Given the description of an element on the screen output the (x, y) to click on. 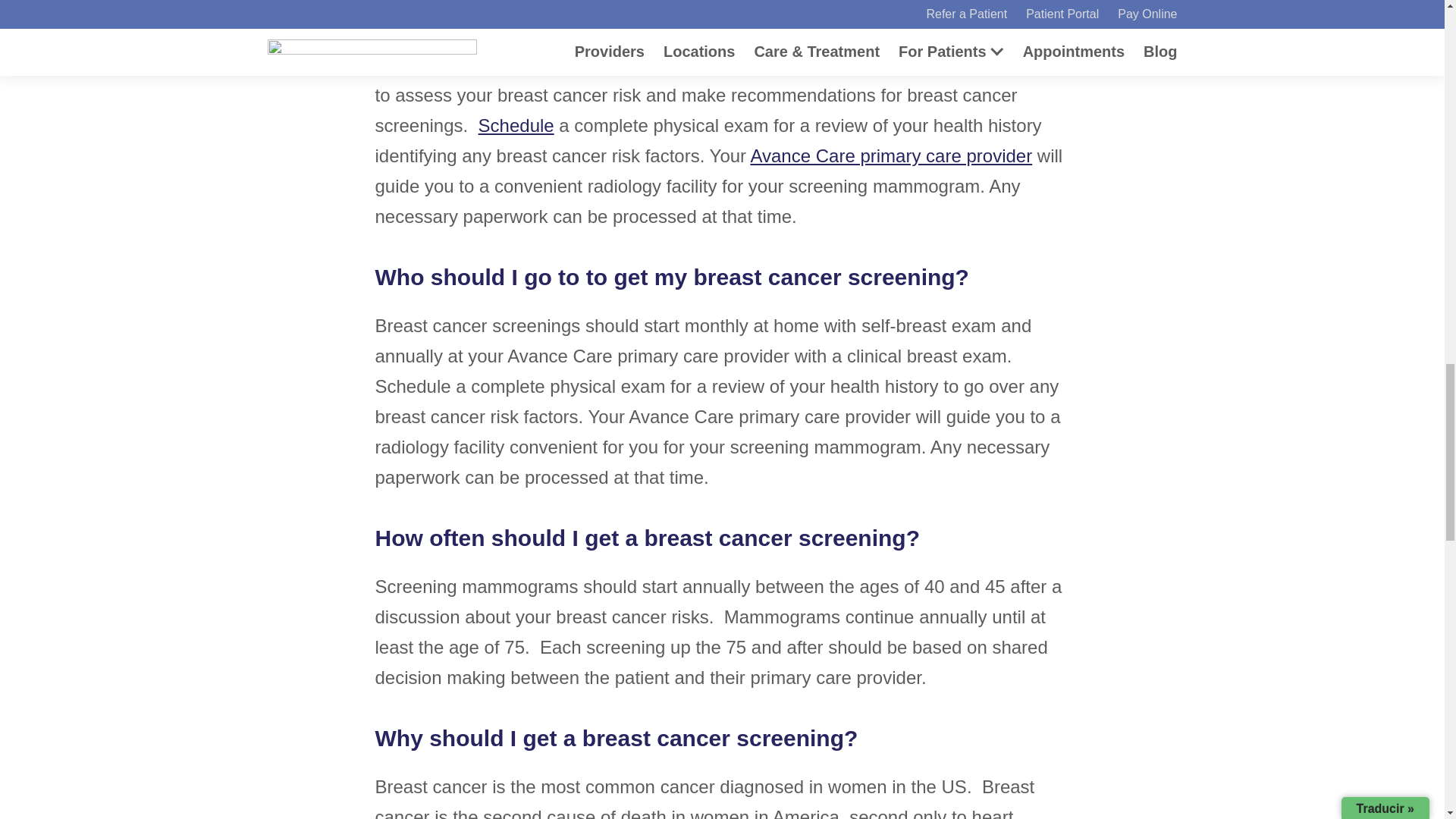
Avance Care primary care provider (890, 155)
Schedule (516, 125)
